Given the description of an element on the screen output the (x, y) to click on. 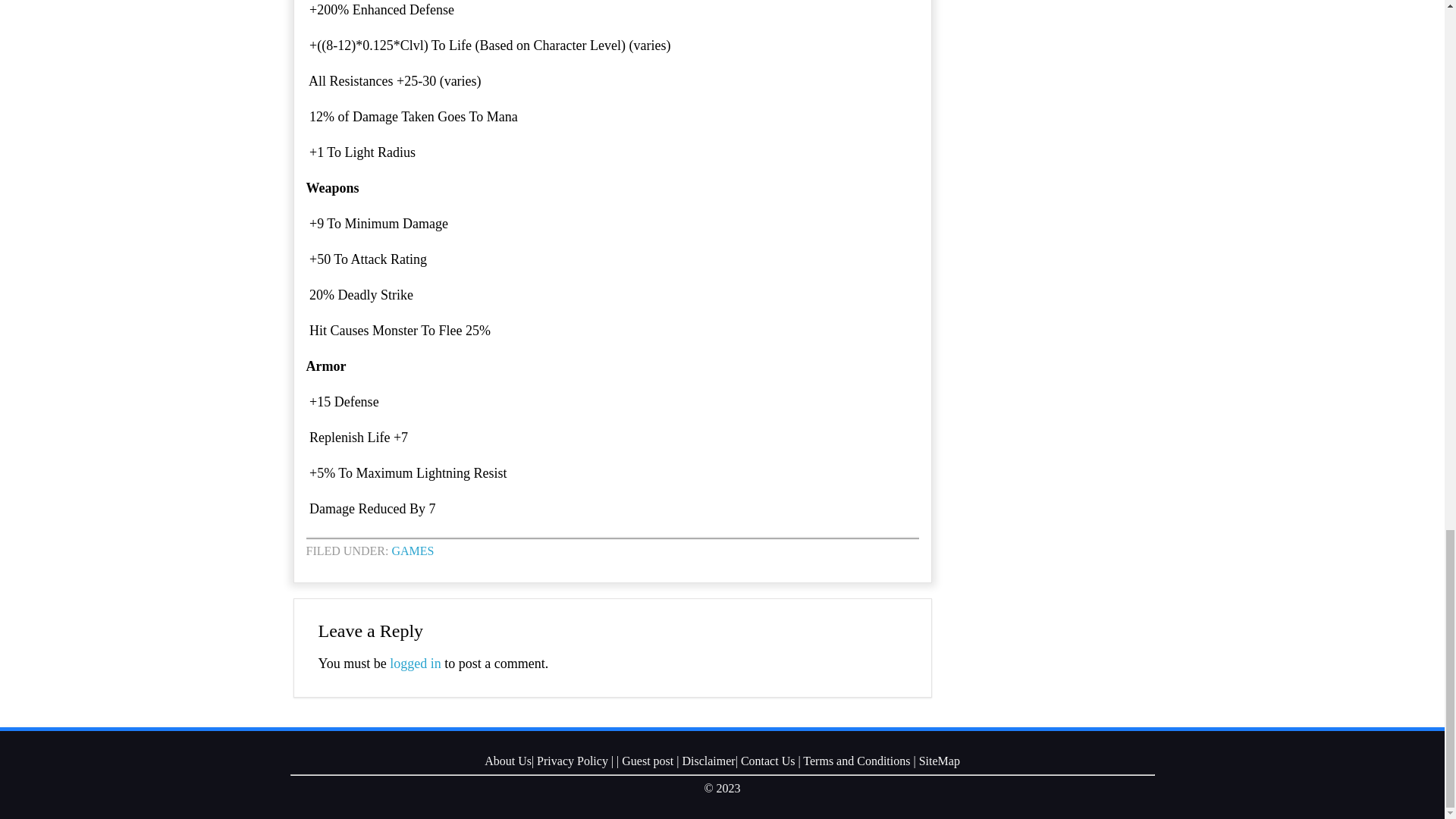
Guest post (646, 760)
SiteMap (938, 760)
About Us (507, 760)
Contact Us (767, 760)
Terms and Conditions (856, 760)
Disclaimer (708, 760)
logged in (415, 663)
GAMES (412, 550)
Privacy Policy (572, 760)
